Given the description of an element on the screen output the (x, y) to click on. 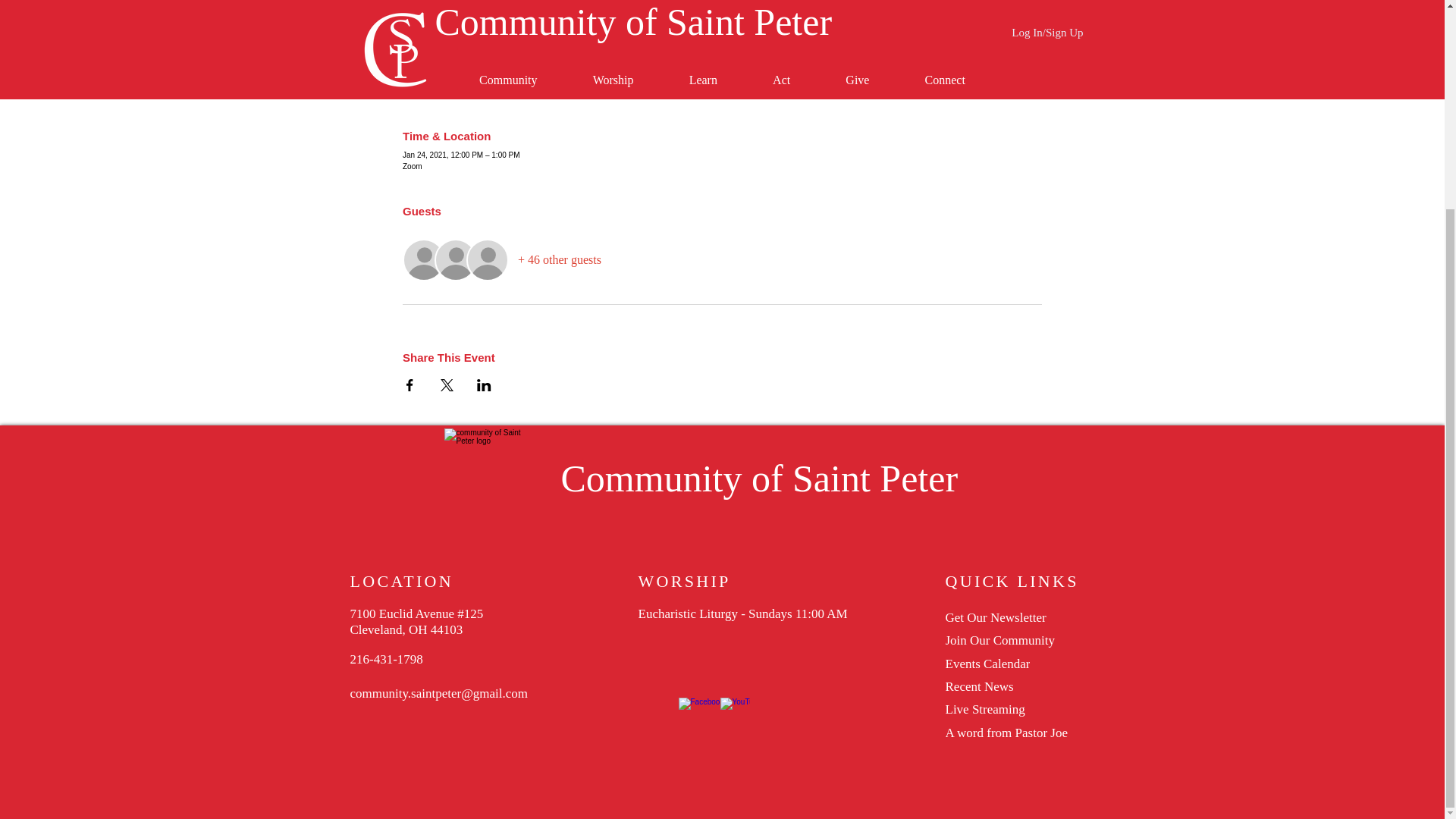
See other events (722, 15)
